Given the description of an element on the screen output the (x, y) to click on. 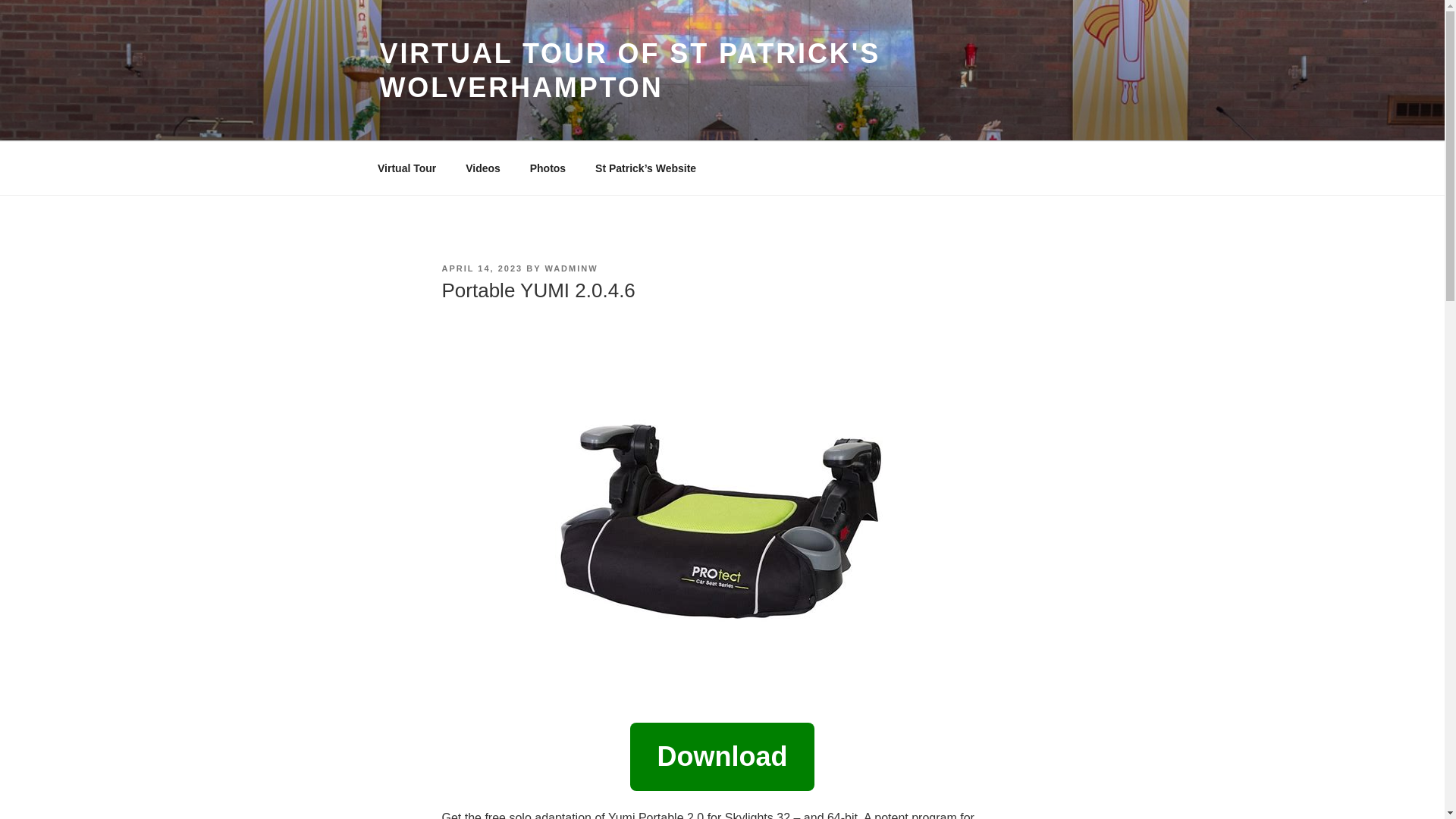
APRIL 14, 2023 (481, 267)
Videos (482, 168)
Virtual Tour (406, 168)
Download (720, 761)
Photos (547, 168)
Download (720, 756)
WADMINW (570, 267)
VIRTUAL TOUR OF ST PATRICK'S WOLVERHAMPTON (629, 70)
